Given the description of an element on the screen output the (x, y) to click on. 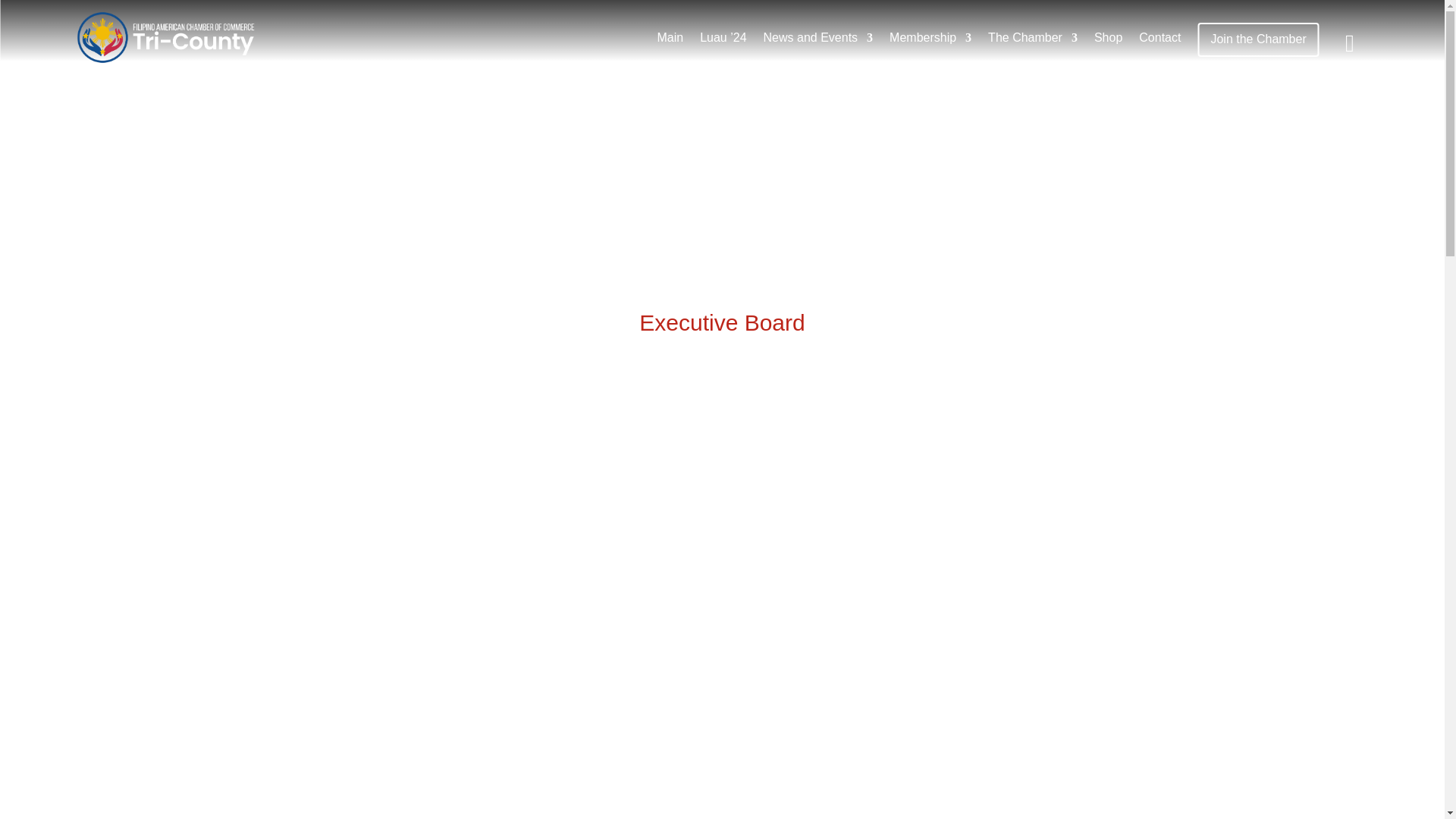
Membership (930, 37)
News and Events (817, 37)
Join the Chamber (1257, 39)
The Chamber (1032, 37)
